Given the description of an element on the screen output the (x, y) to click on. 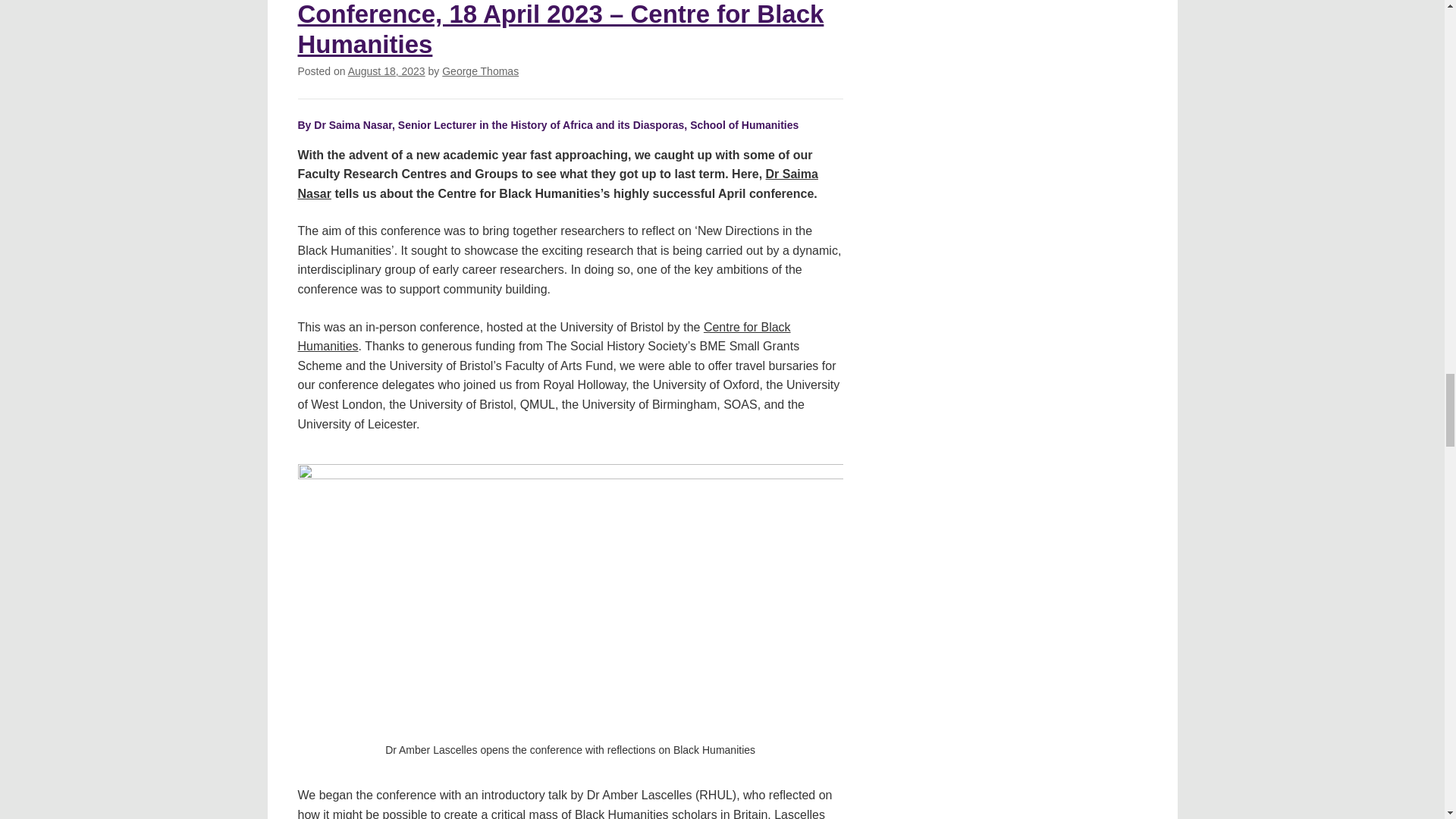
August 18, 2023 (386, 70)
Centre for Black Humanities (543, 336)
George Thomas (480, 70)
Dr Saima Nasar (556, 183)
